Given the description of an element on the screen output the (x, y) to click on. 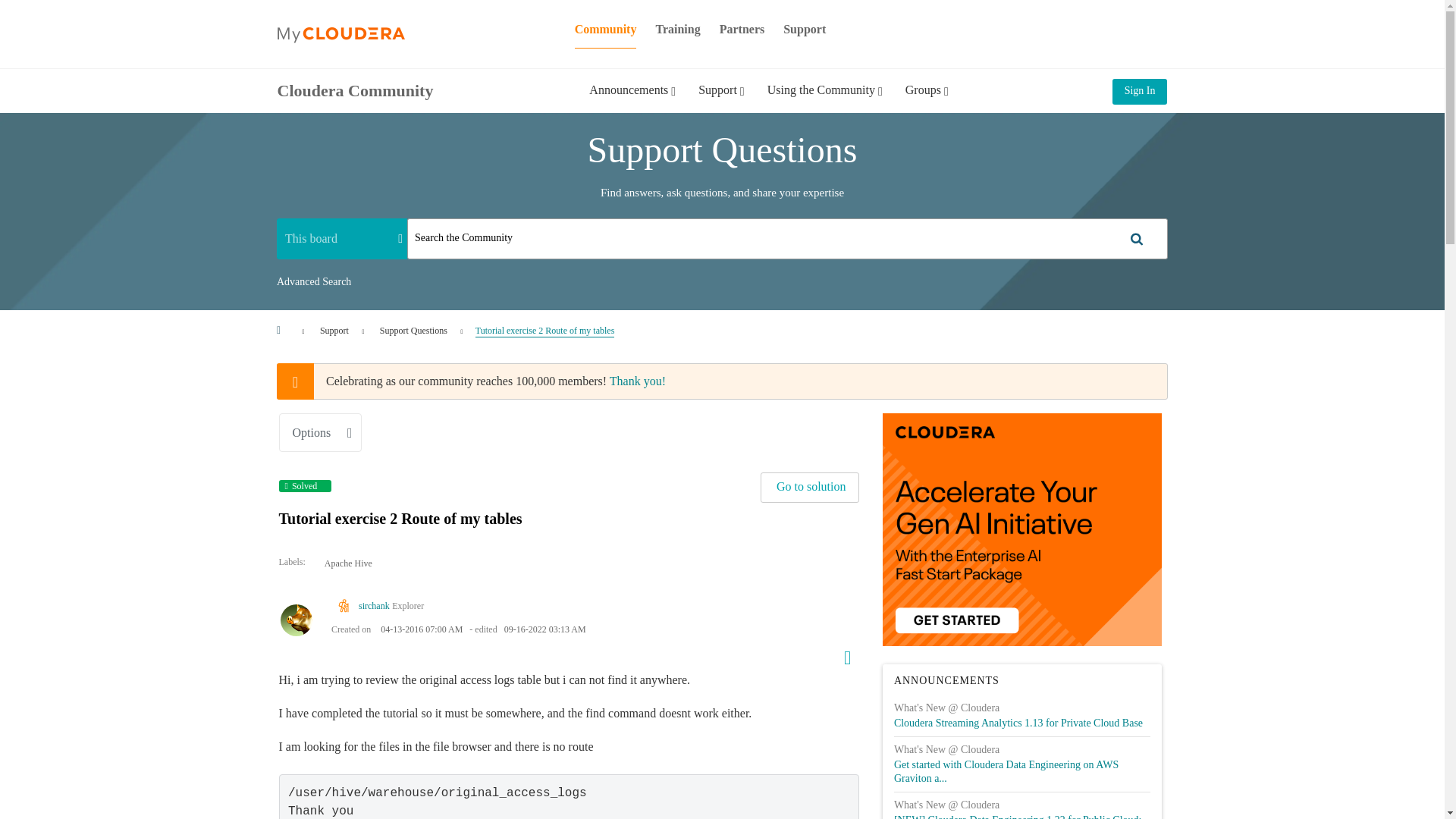
Announcements (632, 100)
Search Granularity (342, 237)
Thank you! (637, 380)
Using the Community (824, 100)
Support (804, 29)
Support (721, 100)
Partners (742, 29)
Training (677, 29)
Search (787, 238)
Advanced Search (313, 281)
